Given the description of an element on the screen output the (x, y) to click on. 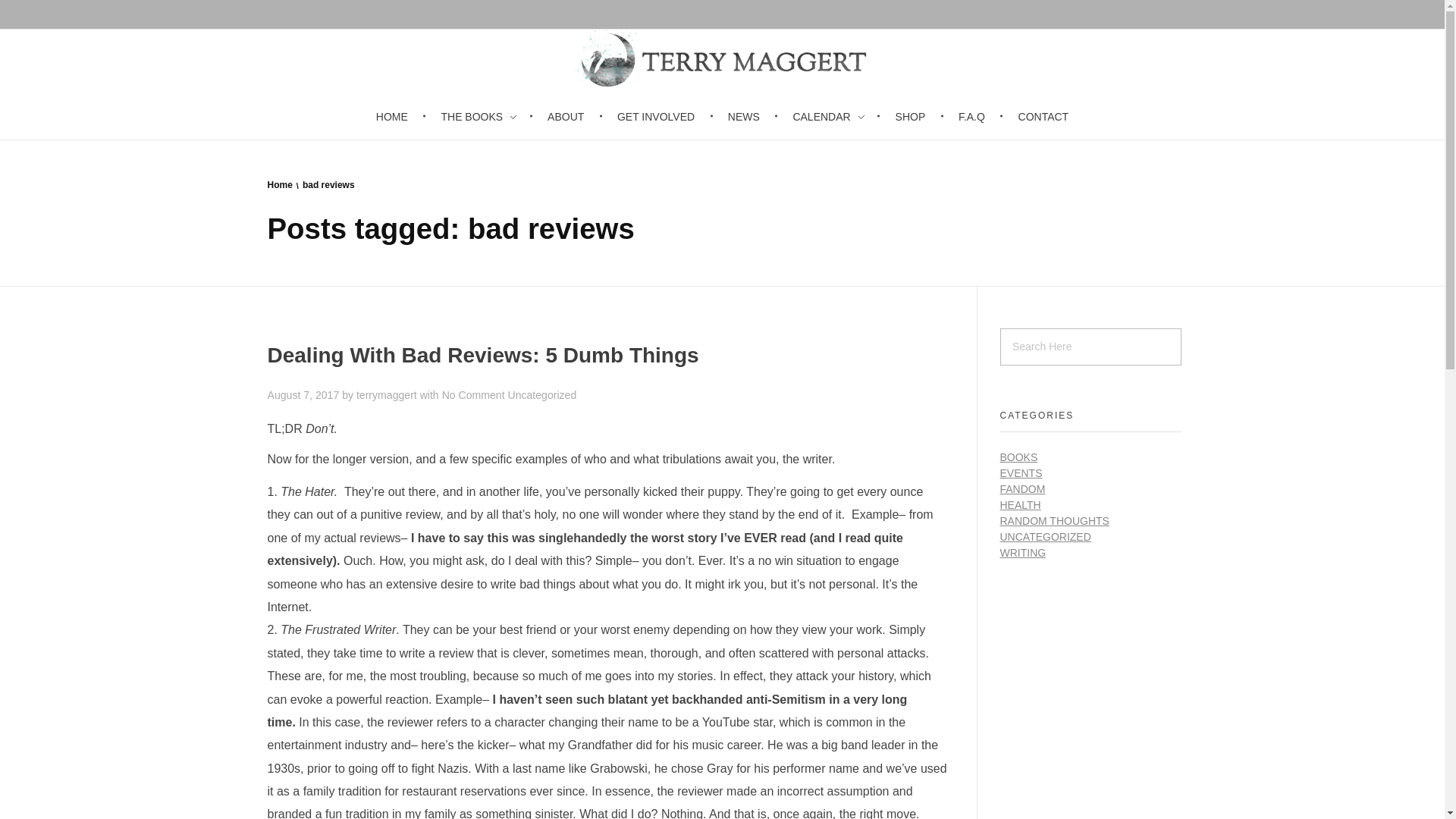
View all posts in Uncategorized (541, 395)
View all posts by terrymaggert (388, 395)
HOME (400, 116)
2017-08-07T09:30:12-05:00 (302, 395)
Home (279, 184)
THE BOOKS (480, 116)
